Given the description of an element on the screen output the (x, y) to click on. 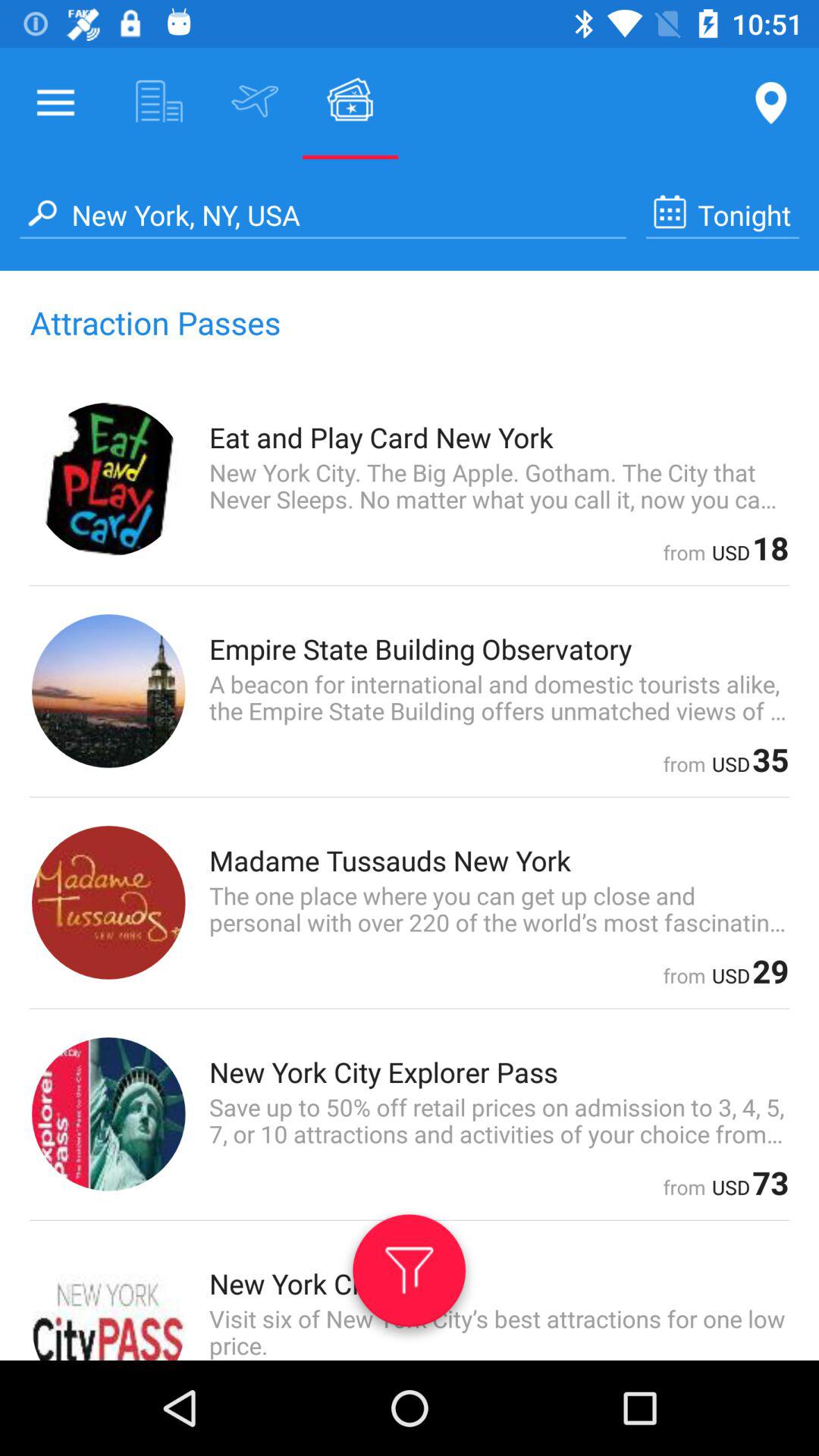
select the image below the text attraction passes on the web page (108, 479)
click on the filter symbol at the bottom of the page (409, 1276)
click on the location pin at the top right corner of the page (616, 104)
